Given the description of an element on the screen output the (x, y) to click on. 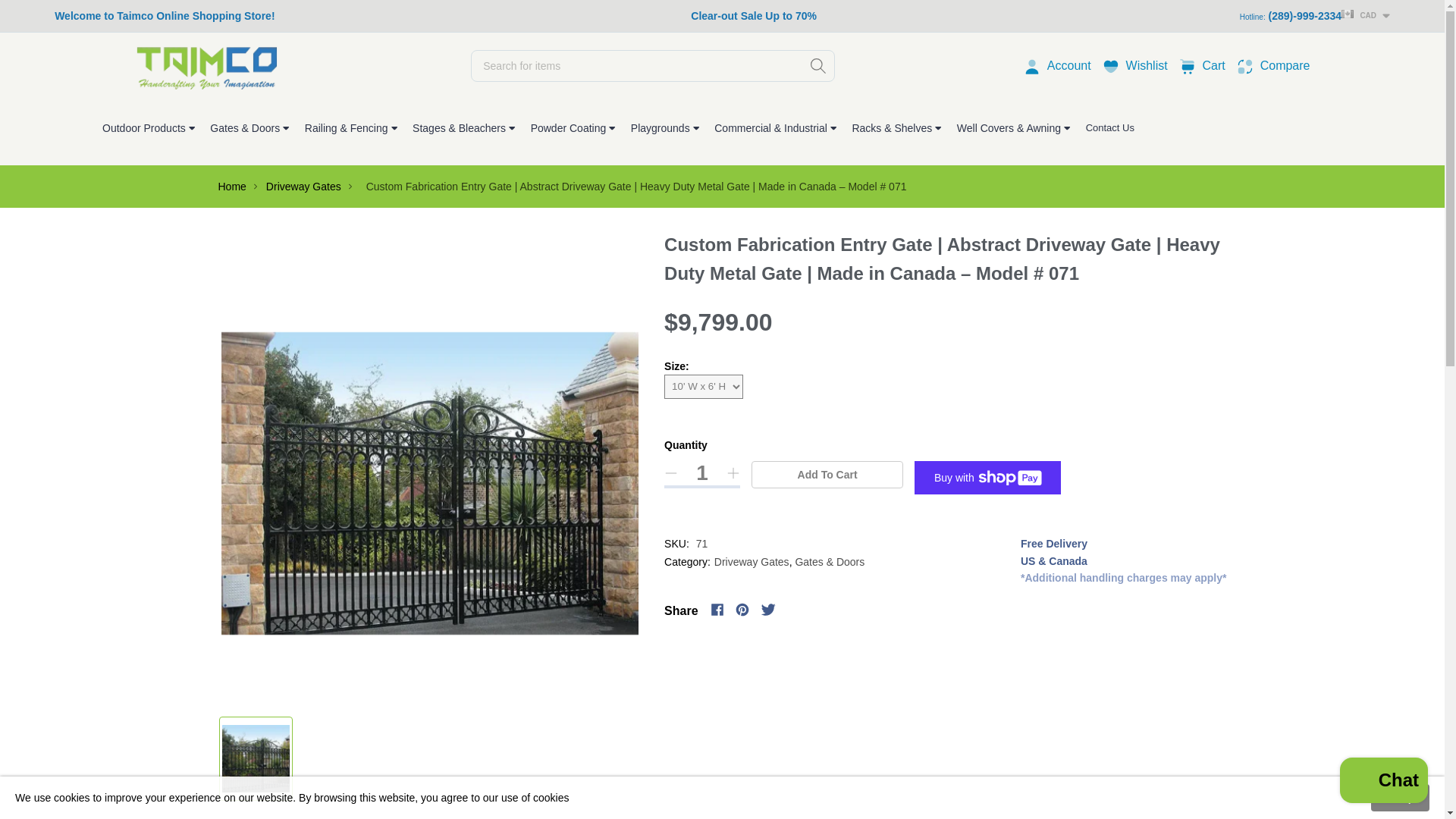
  CAD (1365, 14)
Account (1068, 65)
Shopify online store chat (1383, 781)
Wishlist (1147, 65)
US (1316, 58)
ready-to-ship-products (1188, 65)
Compare (753, 17)
CA (1285, 65)
Cart (1317, 38)
1 (1213, 65)
